Given the description of an element on the screen output the (x, y) to click on. 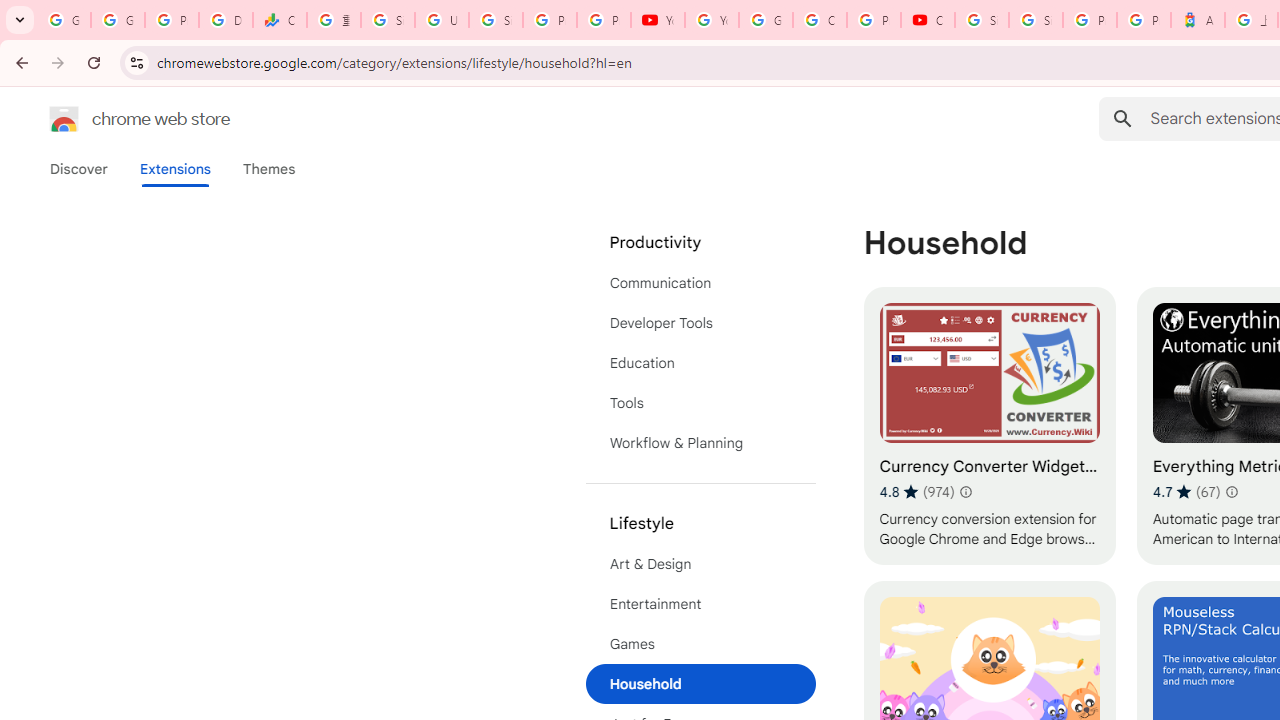
Education (700, 362)
YouTube (711, 20)
Themes (269, 169)
Developer Tools (700, 322)
Communication (700, 282)
Workflow & Planning (700, 442)
Atour Hotel - Google hotels (1197, 20)
Google Account Help (765, 20)
